Given the description of an element on the screen output the (x, y) to click on. 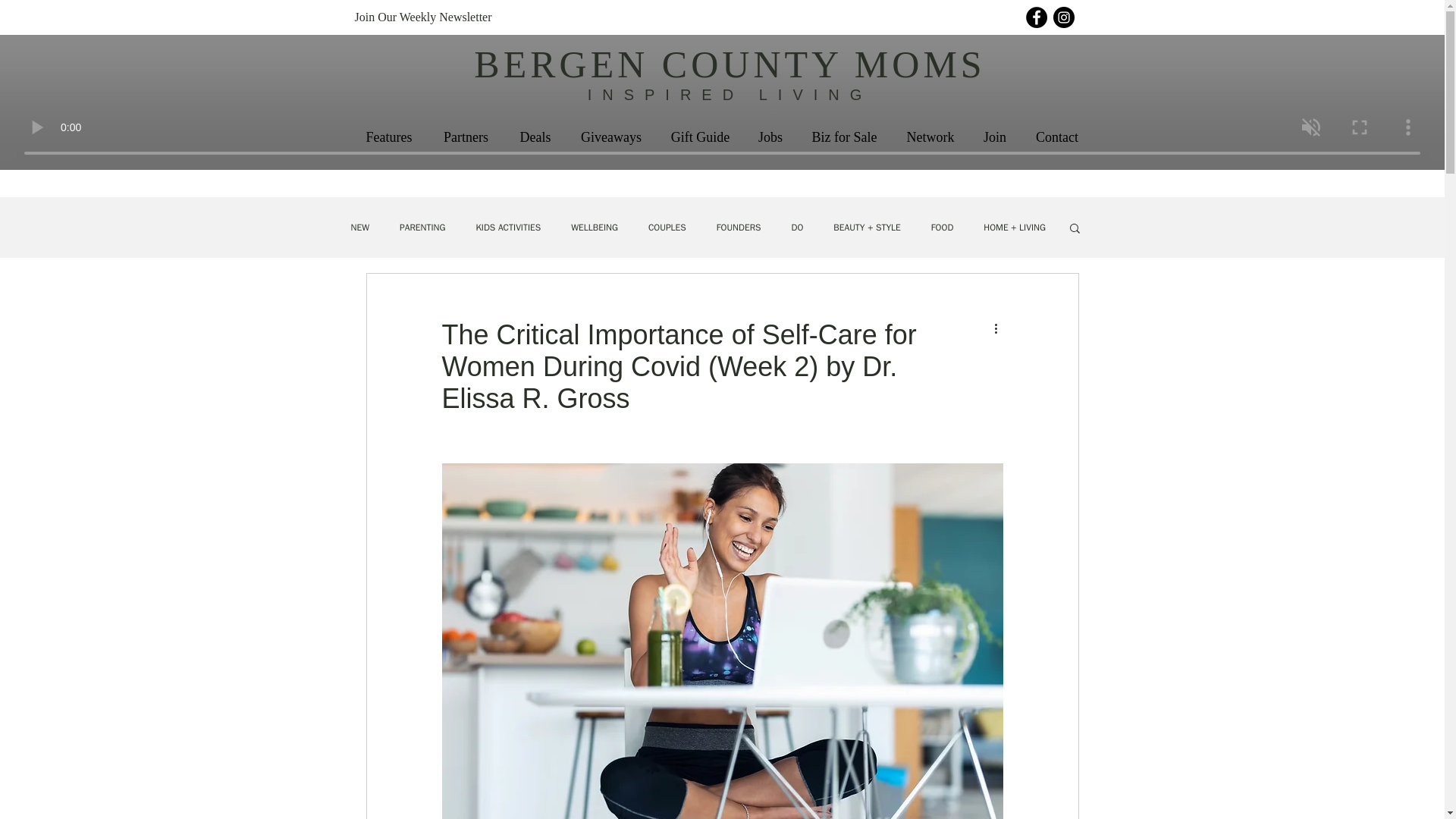
Gift Guide (700, 137)
Join Our Weekly Newsletter (456, 16)
FOUNDERS (738, 227)
Network (929, 137)
WELLBEING (593, 227)
Biz for Sale (843, 137)
Contact (1056, 137)
NEW (359, 227)
PARENTING (421, 227)
BERGEN COUNTY MOMS (729, 64)
INSPIRED LIVING (730, 94)
Join (995, 137)
Giveaways (611, 137)
Deals (535, 137)
KIDS ACTIVITIES (508, 227)
